Given the description of an element on the screen output the (x, y) to click on. 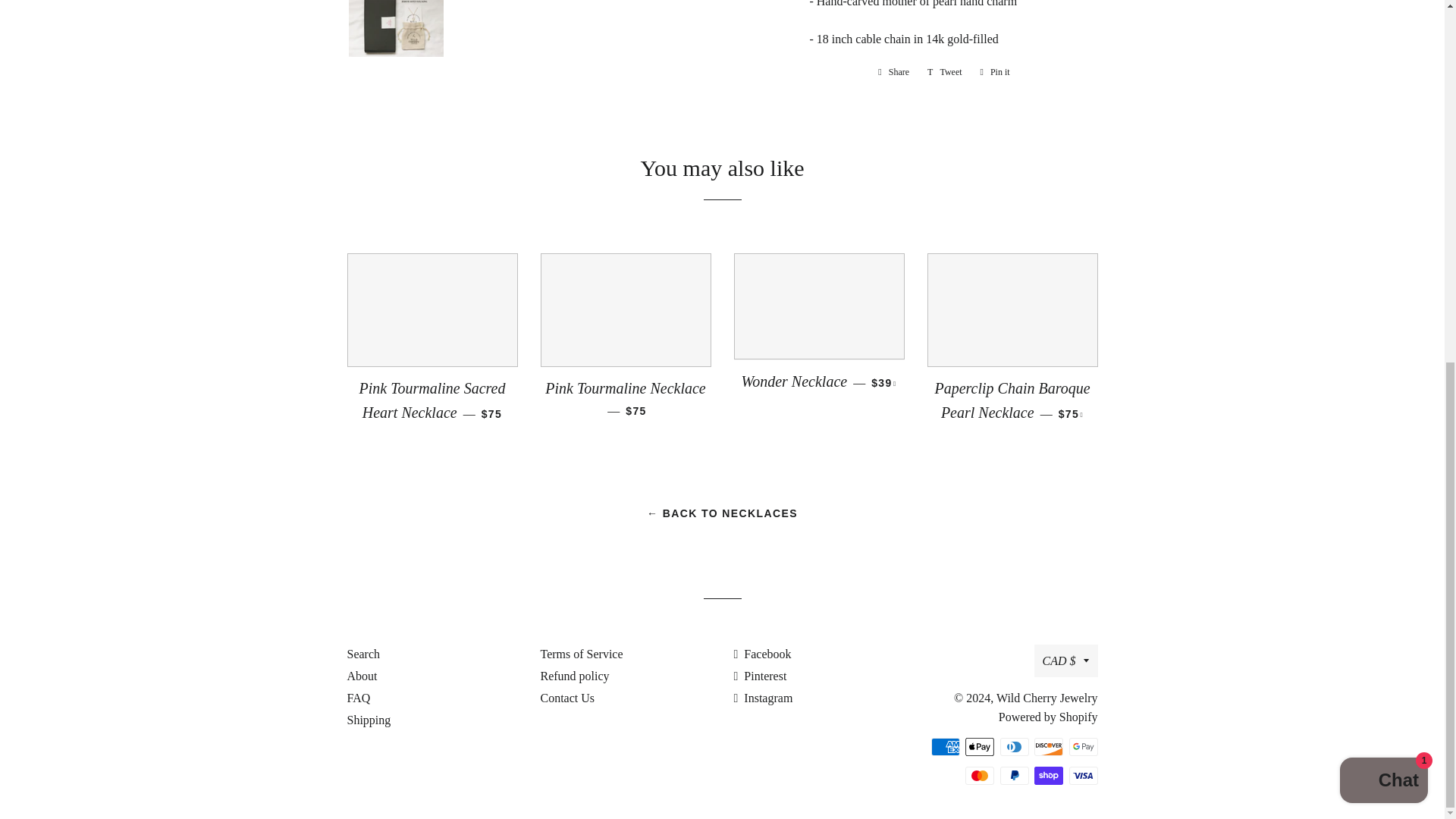
Mastercard (979, 775)
Wild Cherry Jewelry on Pinterest (760, 675)
Google Pay (1082, 746)
Shopify online store chat (1383, 136)
Wild Cherry Jewelry on Instagram (763, 697)
Wild Cherry Jewelry on Facebook (762, 653)
American Express (945, 746)
Diners Club (1012, 746)
Share on Facebook (893, 71)
Apple Pay (979, 746)
PayPal (1012, 775)
Shop Pay (1047, 775)
Tweet on Twitter (944, 71)
Visa (1082, 775)
Pin on Pinterest (994, 71)
